Given the description of an element on the screen output the (x, y) to click on. 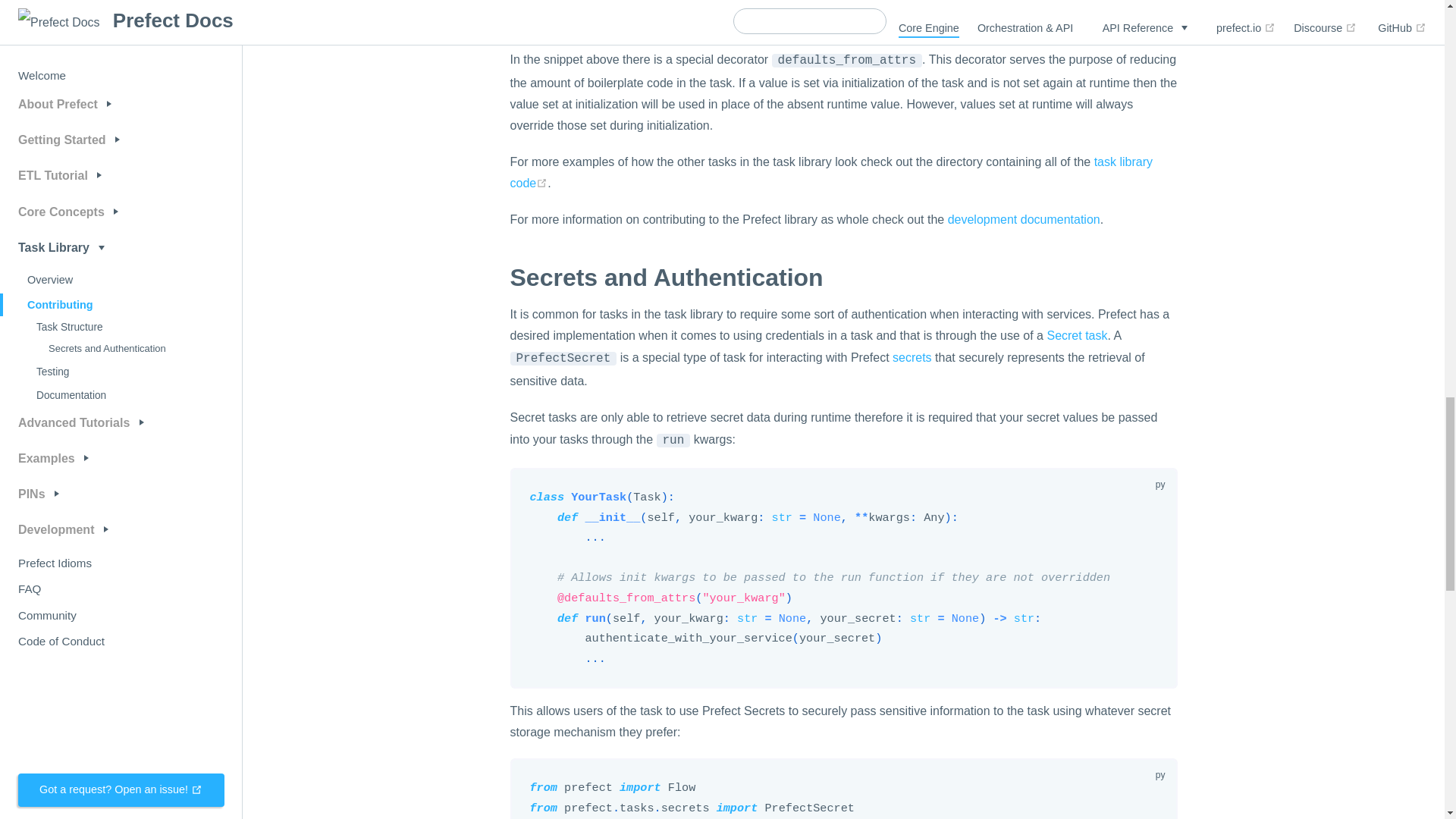
task library code (831, 172)
